Given the description of an element on the screen output the (x, y) to click on. 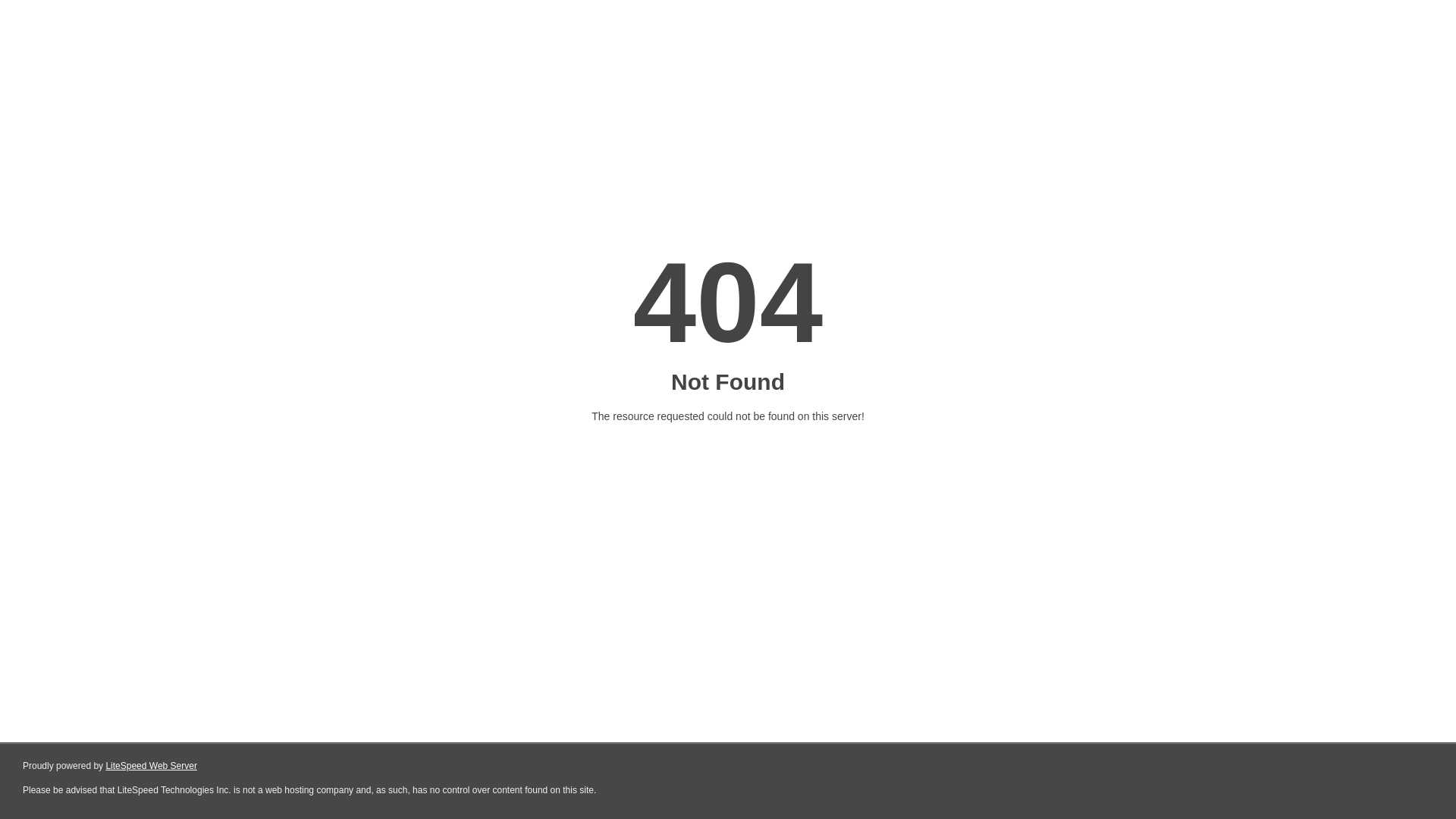
LiteSpeed Web Server Element type: text (151, 765)
